Given the description of an element on the screen output the (x, y) to click on. 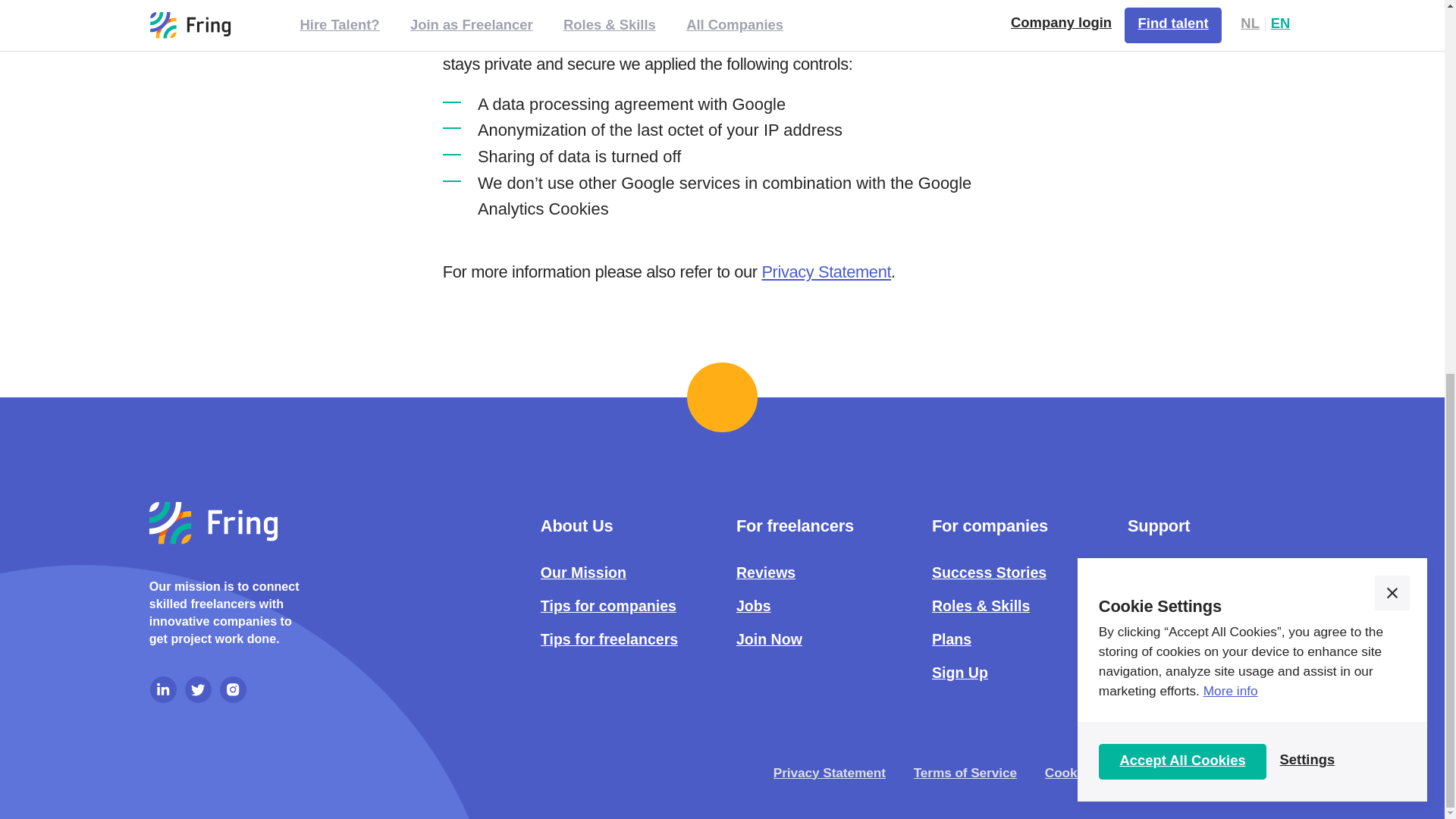
Terms of Service (965, 773)
Contact Us (1165, 607)
Our Mission (583, 573)
Fring Homepage (213, 522)
Tips for companies (608, 607)
Jobs (753, 607)
Privacy Statement (163, 689)
Follow Fring on Instagram (826, 271)
Sign Up (233, 689)
Accept All Cookies (198, 689)
Success Stories (959, 673)
Settings (1182, 76)
Reviews (988, 573)
